Given the description of an element on the screen output the (x, y) to click on. 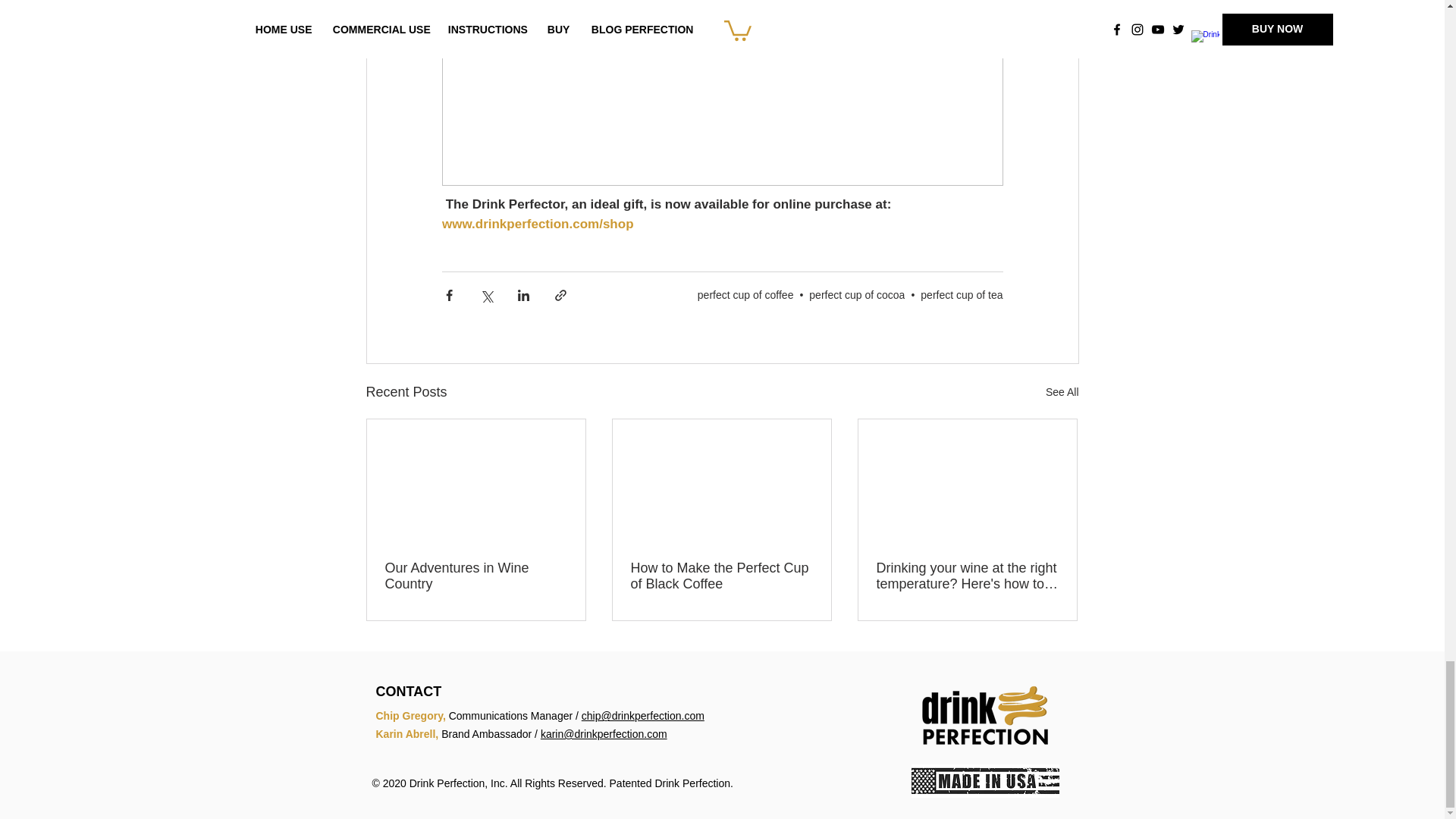
perfect cup of coffee (745, 295)
Our Adventures in Wine Country (476, 576)
perfect cup of cocoa (856, 295)
See All (1061, 392)
perfect cup of tea (961, 295)
CONTACT (408, 691)
How to Make the Perfect Cup of Black Coffee (721, 576)
